Given the description of an element on the screen output the (x, y) to click on. 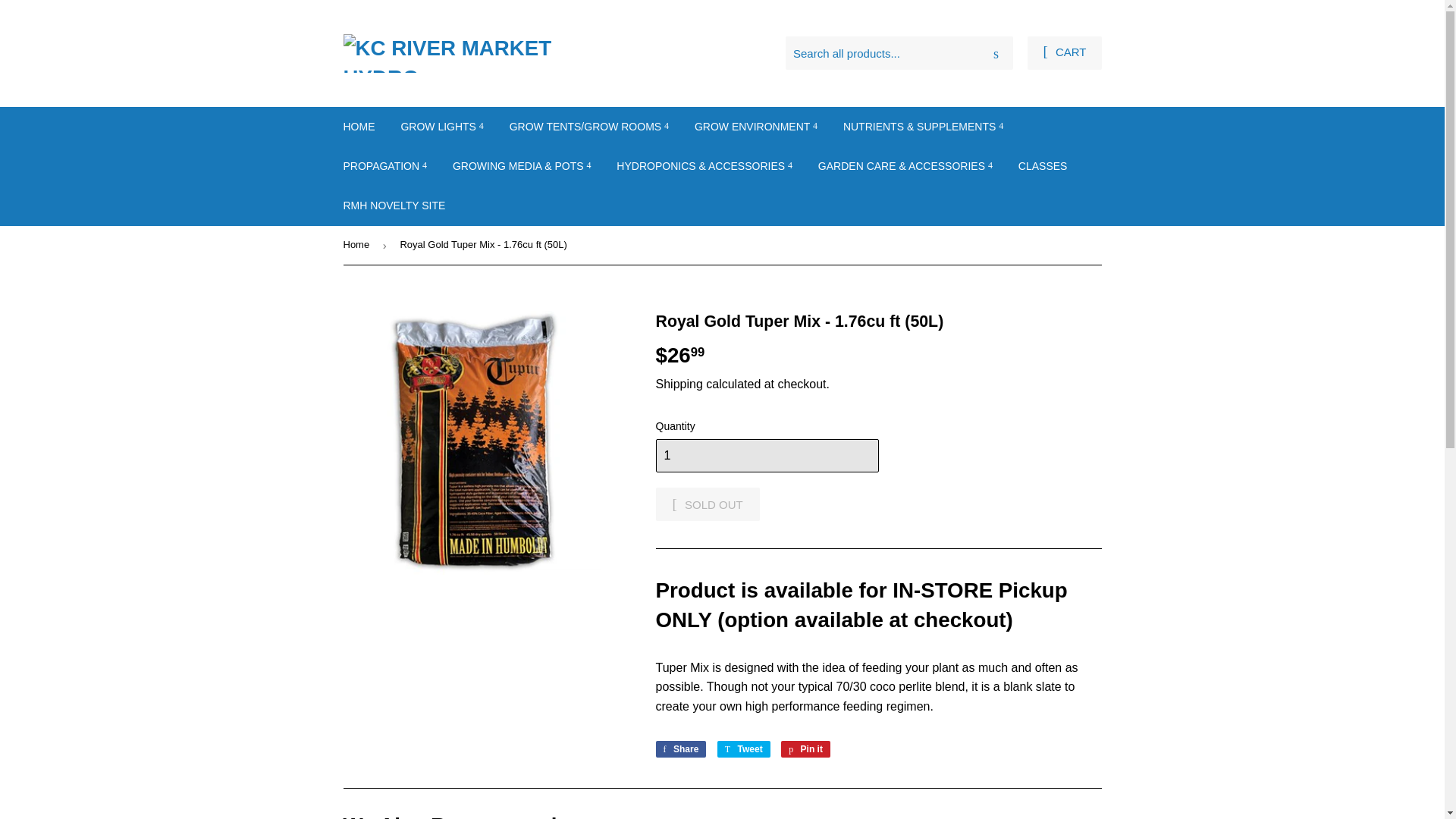
Share on Facebook (680, 749)
CART (1063, 52)
1 (766, 455)
Pin on Pinterest (804, 749)
Tweet on Twitter (743, 749)
Search (995, 53)
